Given the description of an element on the screen output the (x, y) to click on. 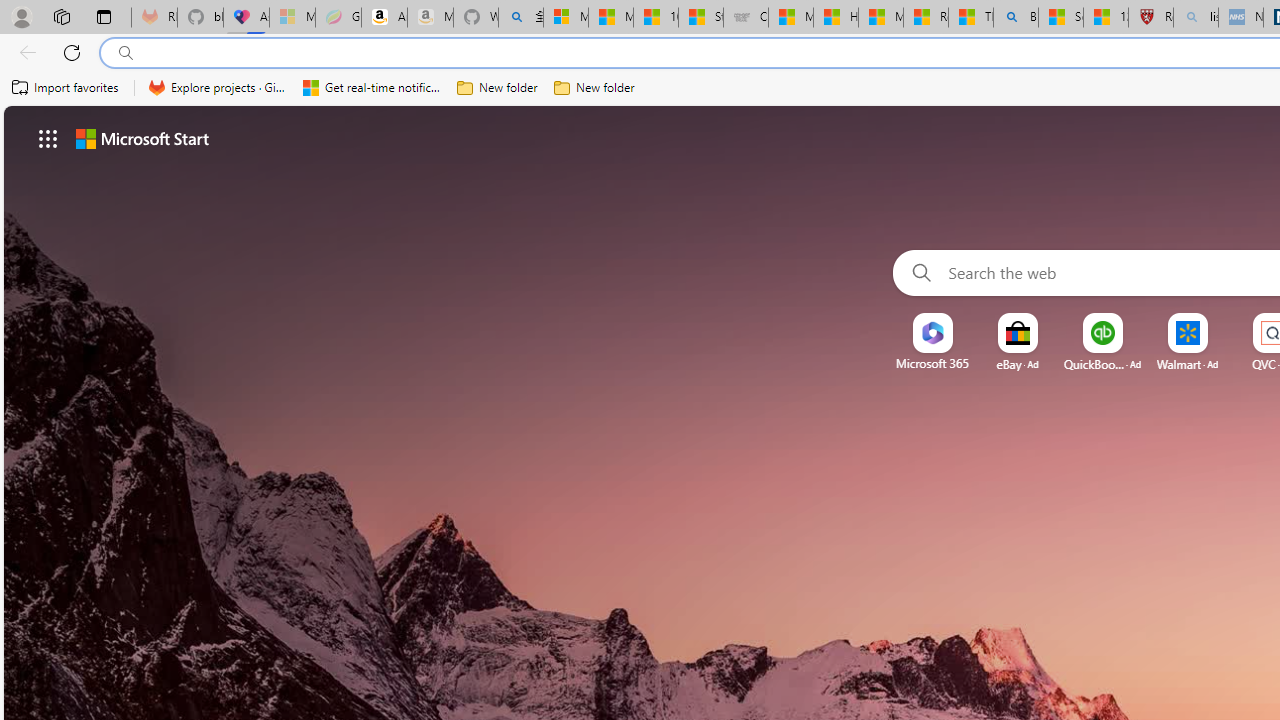
Search icon (125, 53)
